Given the description of an element on the screen output the (x, y) to click on. 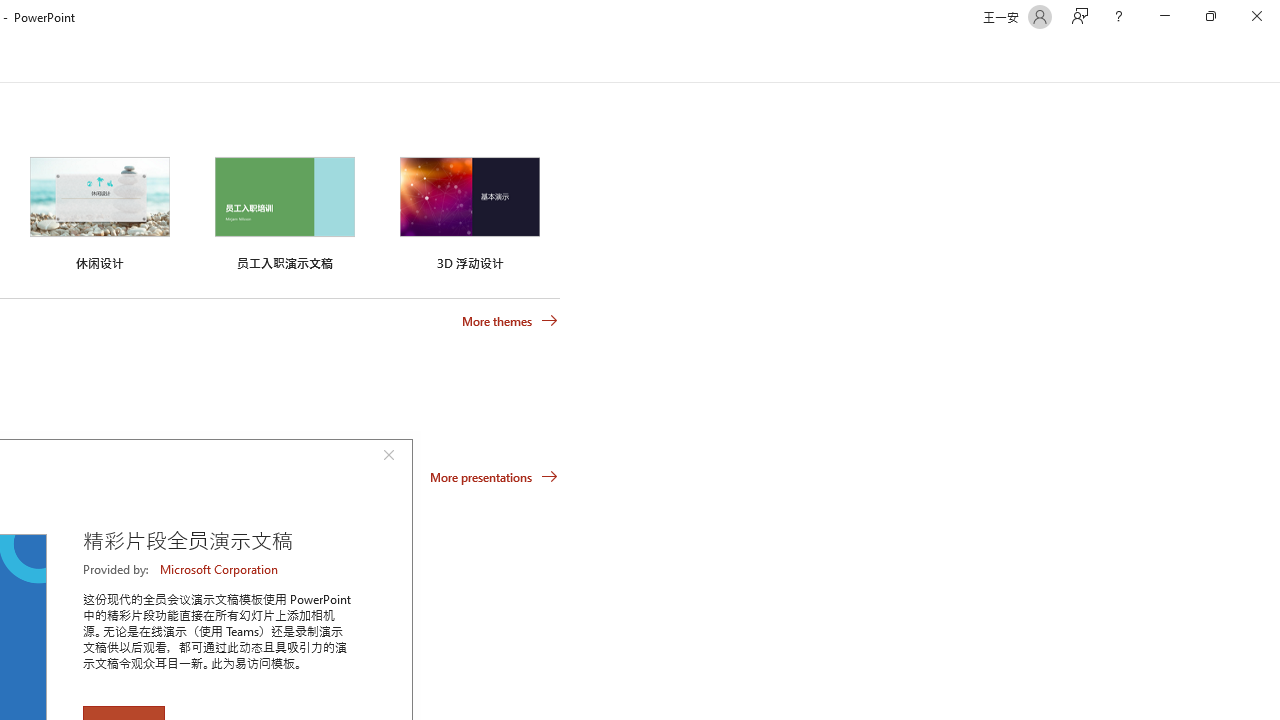
Microsoft Corporation (220, 569)
More themes (509, 321)
More presentations (493, 476)
